Given the description of an element on the screen output the (x, y) to click on. 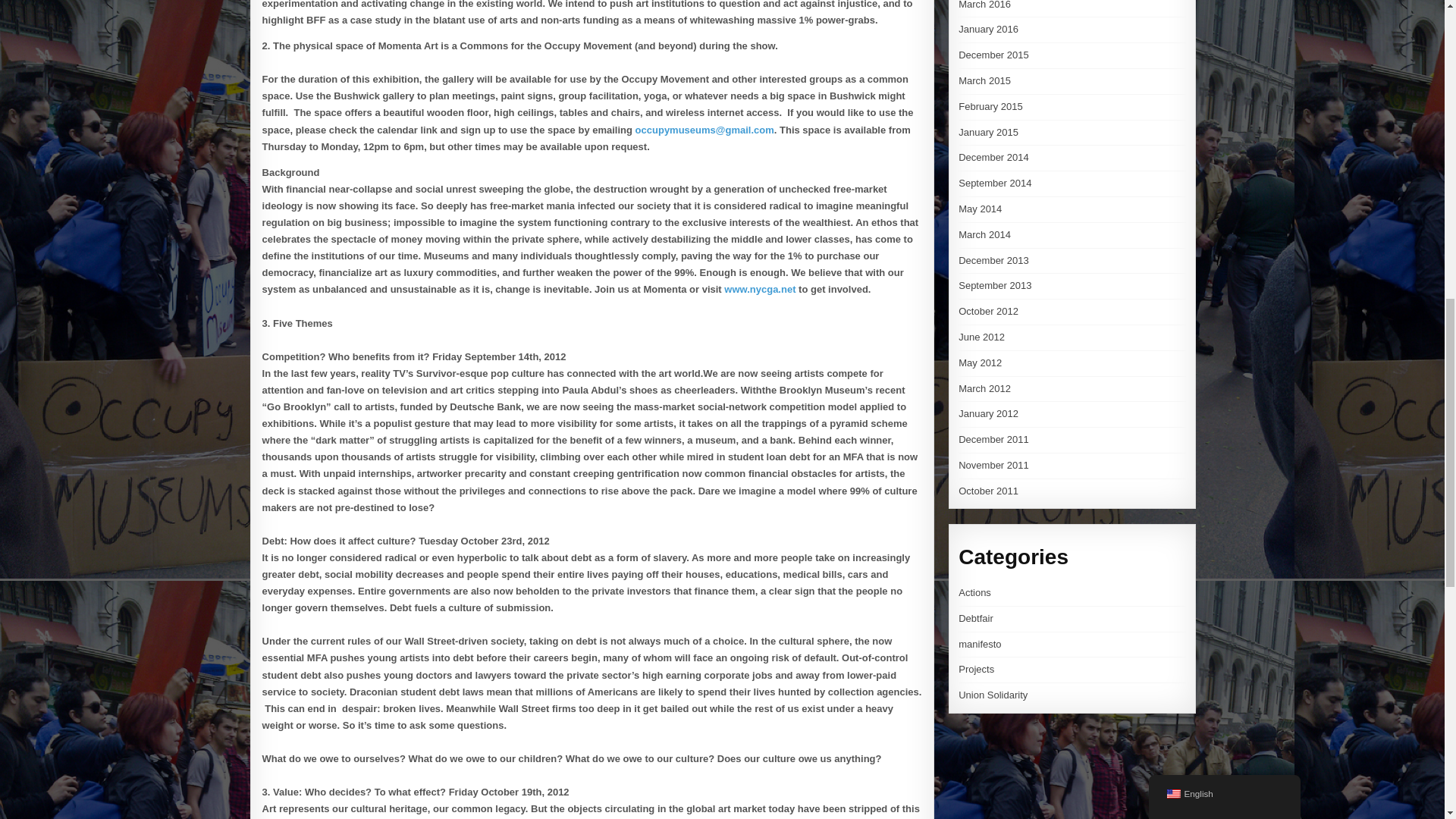
March 2016 (984, 4)
February 2015 (990, 106)
December 2015 (993, 54)
December 2014 (993, 156)
January 2016 (987, 29)
March 2015 (984, 80)
www.nycga.net (758, 288)
January 2015 (987, 132)
